Given the description of an element on the screen output the (x, y) to click on. 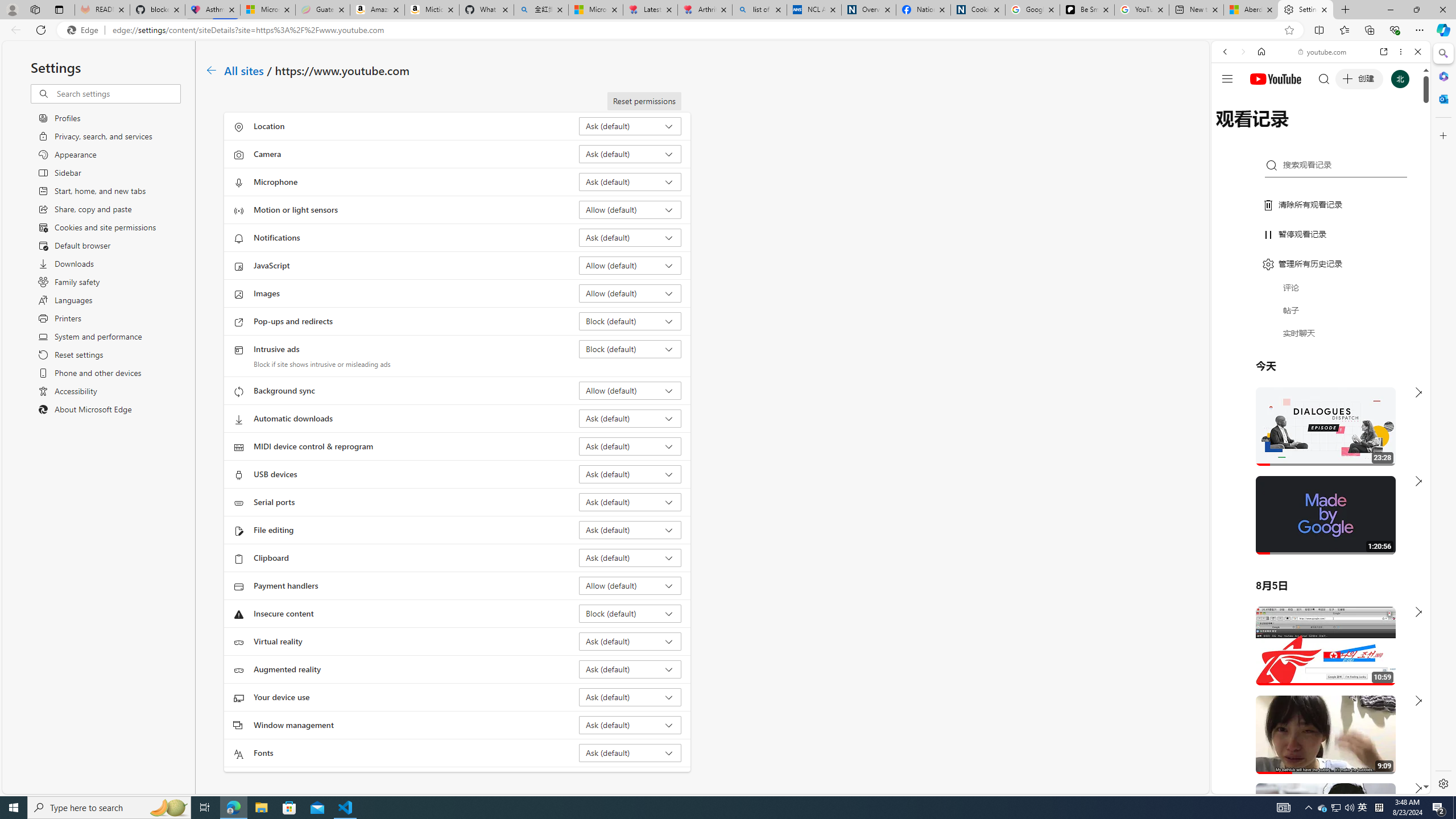
Fonts Ask (default) (630, 752)
Your device use Ask (default) (630, 696)
Images Allow (default) (630, 293)
Notifications Ask (default) (630, 237)
Serial ports Ask (default) (630, 502)
